Given the description of an element on the screen output the (x, y) to click on. 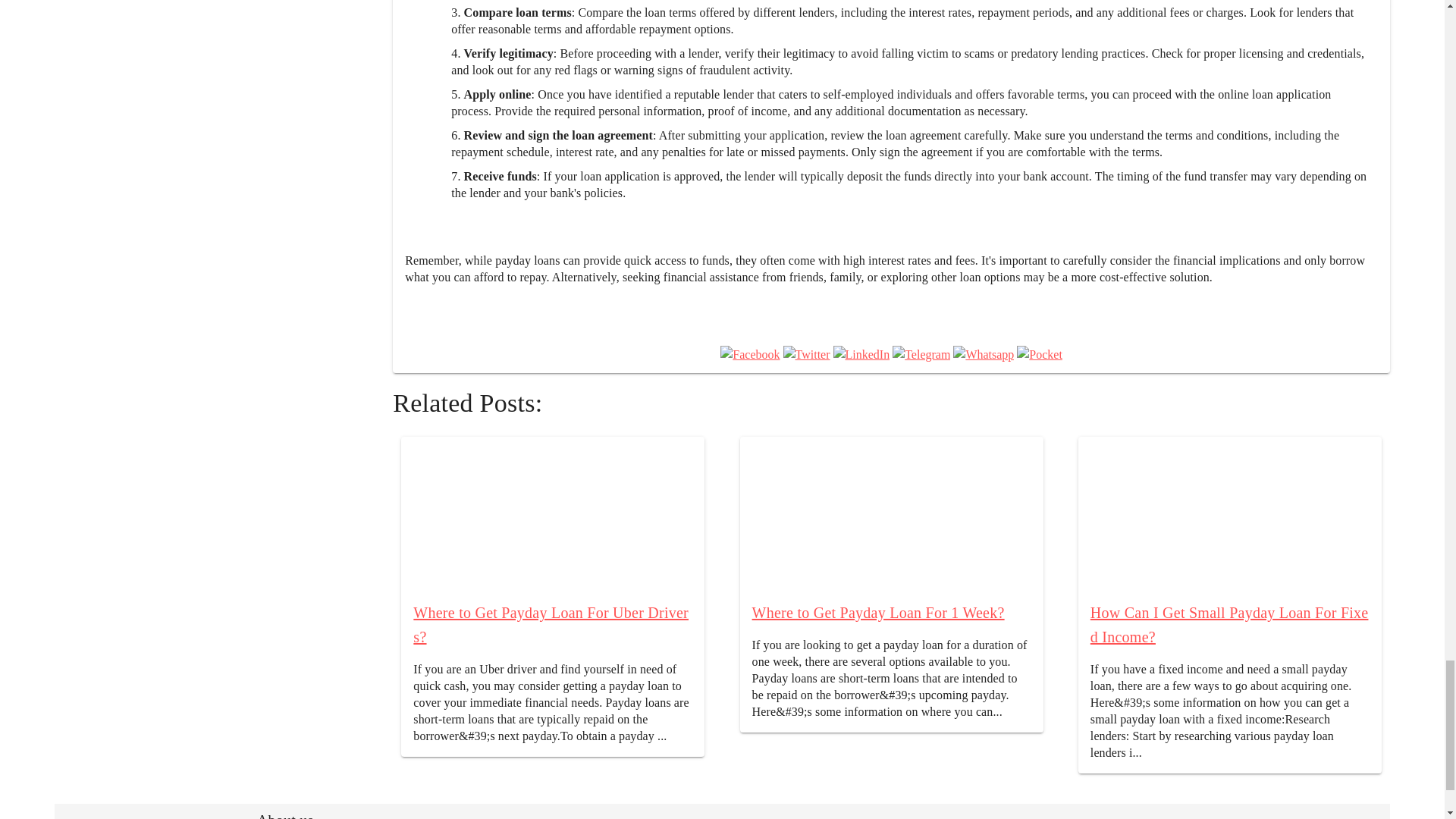
LinkedIn (860, 354)
Twitter (806, 354)
Whatsapp (983, 354)
Pocket (1039, 354)
Facebook (749, 354)
Telegram (921, 354)
